Given the description of an element on the screen output the (x, y) to click on. 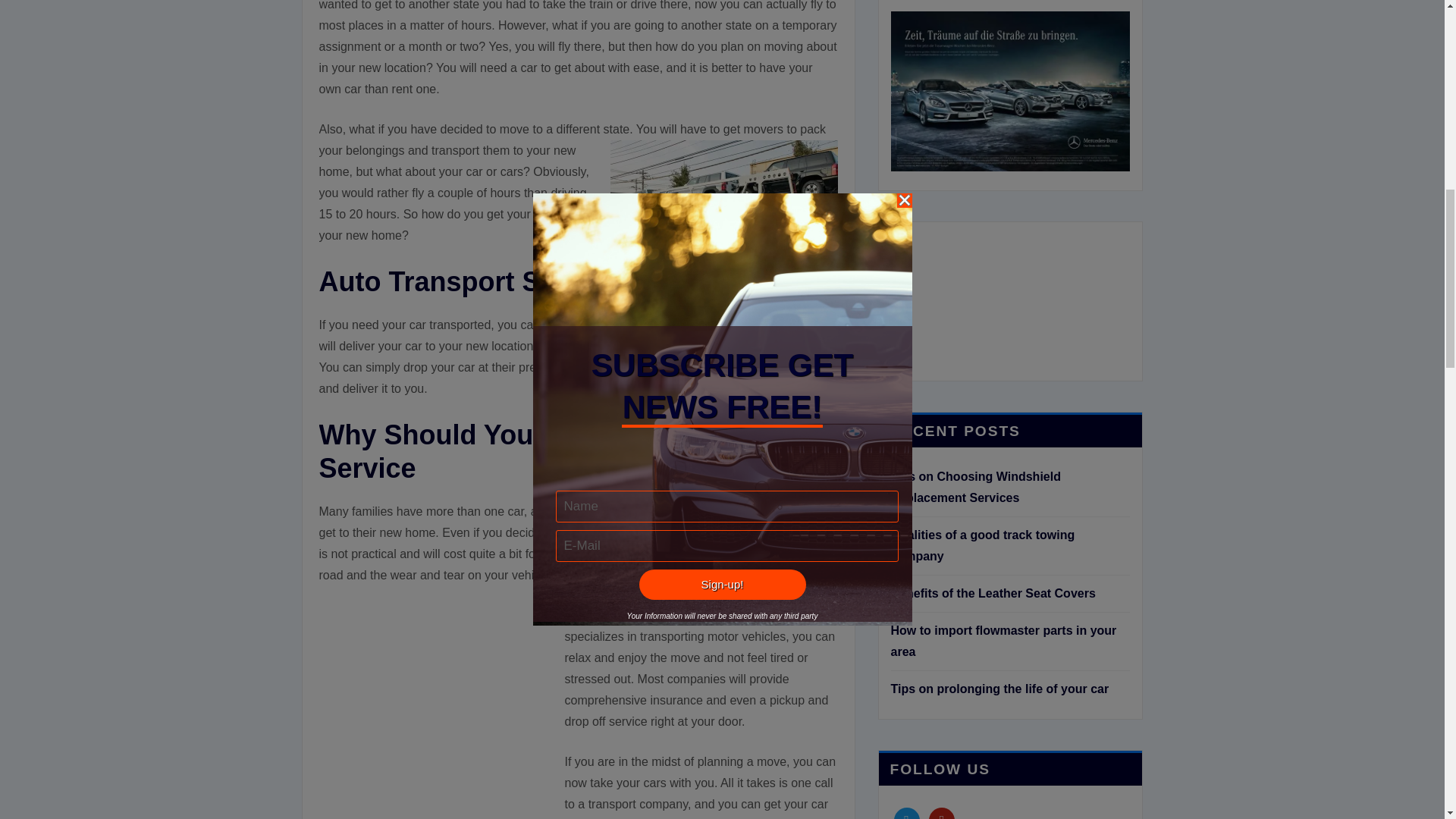
twitter (905, 816)
Benefits of the Leather Seat Covers (991, 593)
Tips on Choosing Windshield Replacement Services (974, 487)
pinterest (941, 816)
How to import flowmaster parts in your area (1002, 641)
Instagram (941, 816)
Qualities of a good track towing company (981, 545)
Twitter (905, 816)
Tips on prolonging the life of your car (998, 688)
